Given the description of an element on the screen output the (x, y) to click on. 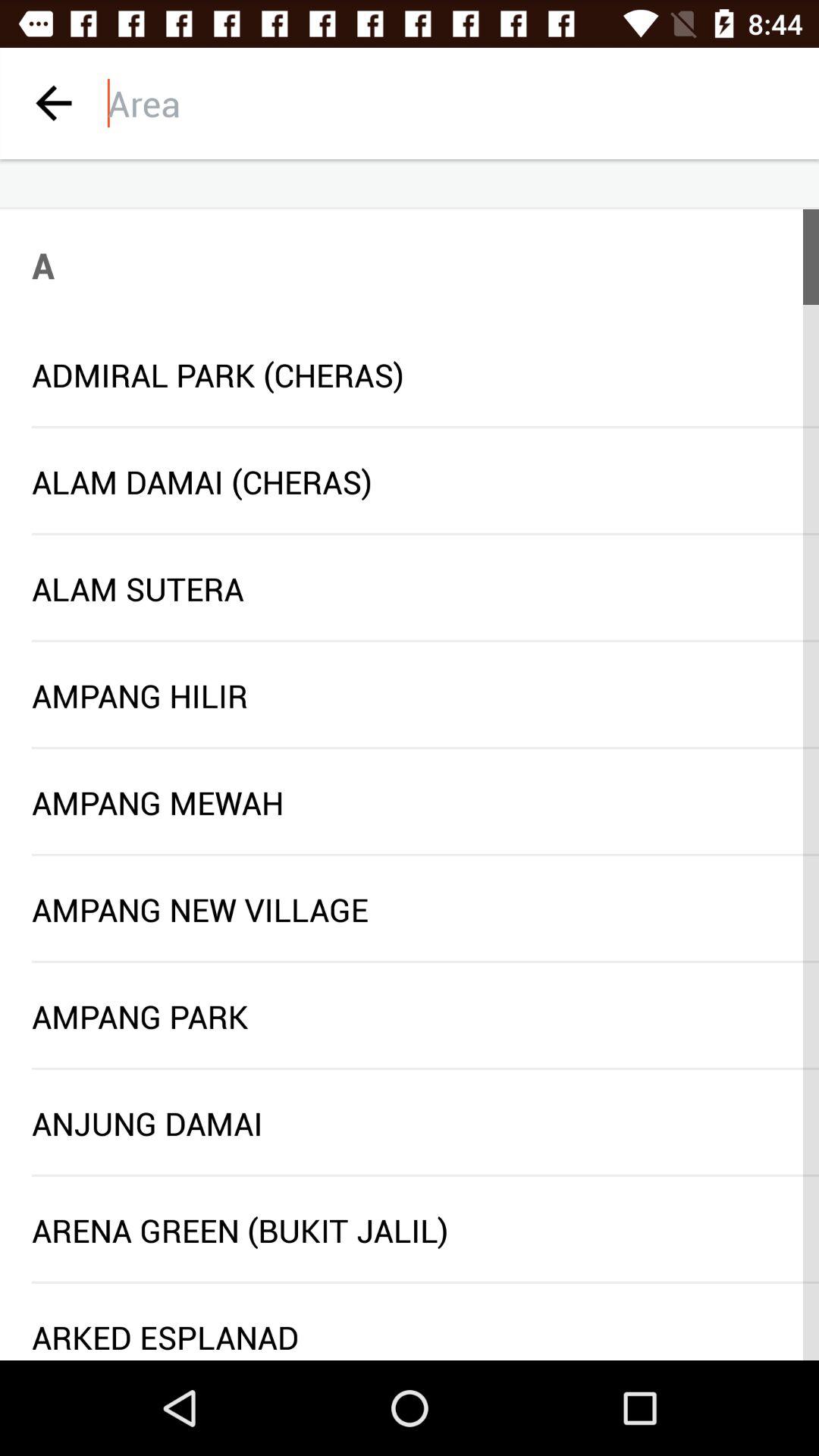
flip to the ampang mewah item (409, 802)
